Given the description of an element on the screen output the (x, y) to click on. 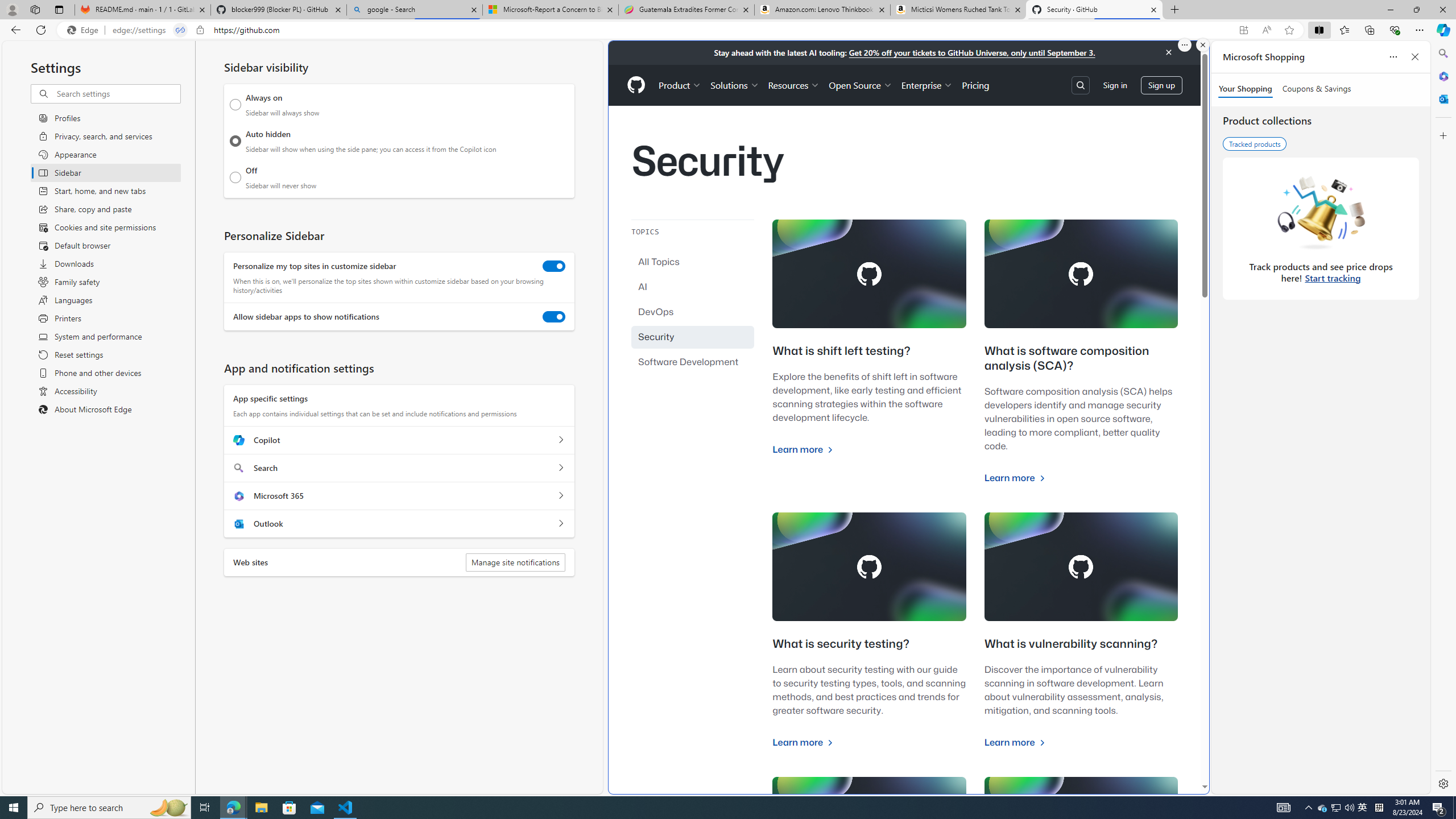
App available. Install  (1243, 29)
Enterprise (927, 84)
All Topics (692, 261)
Edge (84, 29)
Always on Sidebar will always show (235, 104)
AI (692, 286)
